Given the description of an element on the screen output the (x, y) to click on. 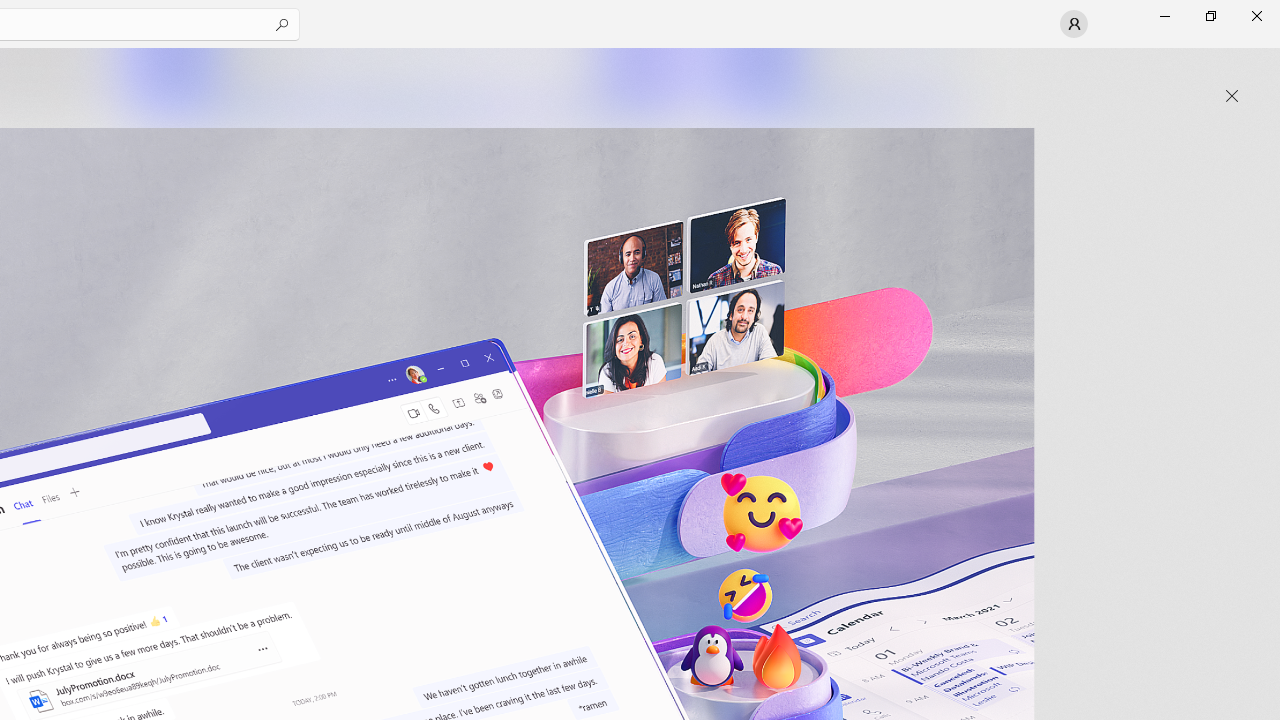
Restore Microsoft Store (1210, 15)
User profile (1073, 24)
Show all ratings and reviews (924, 495)
Minimize Microsoft Store (1164, 15)
Screenshot 2 (406, 81)
close popup window (1232, 95)
Close Microsoft Store (1256, 15)
Screenshot 3 (833, 81)
